Given the description of an element on the screen output the (x, y) to click on. 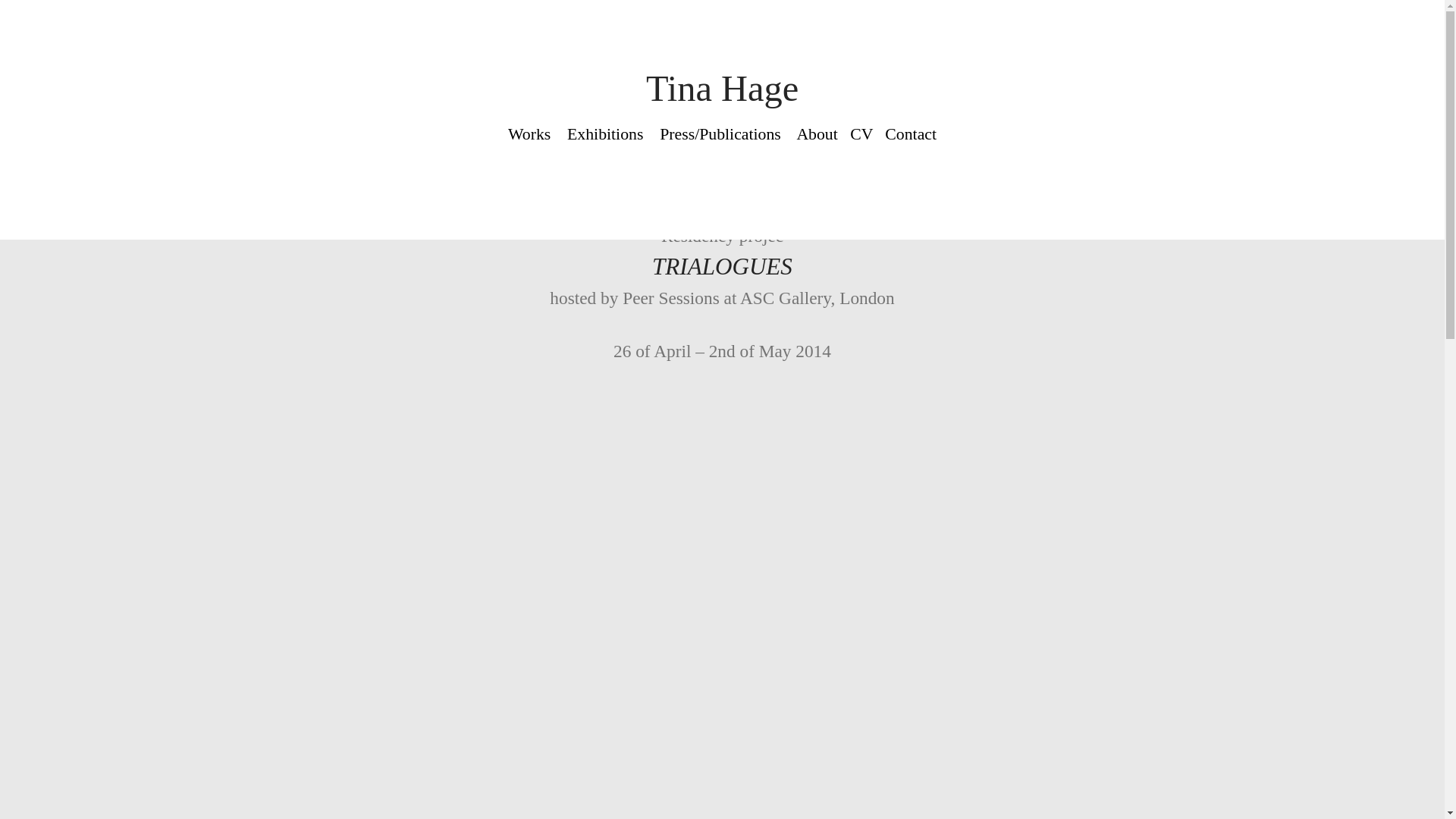
Contact (910, 134)
Works (529, 134)
CV (861, 134)
Publications (739, 134)
About (816, 134)
Exhibitions (605, 134)
